Given the description of an element on the screen output the (x, y) to click on. 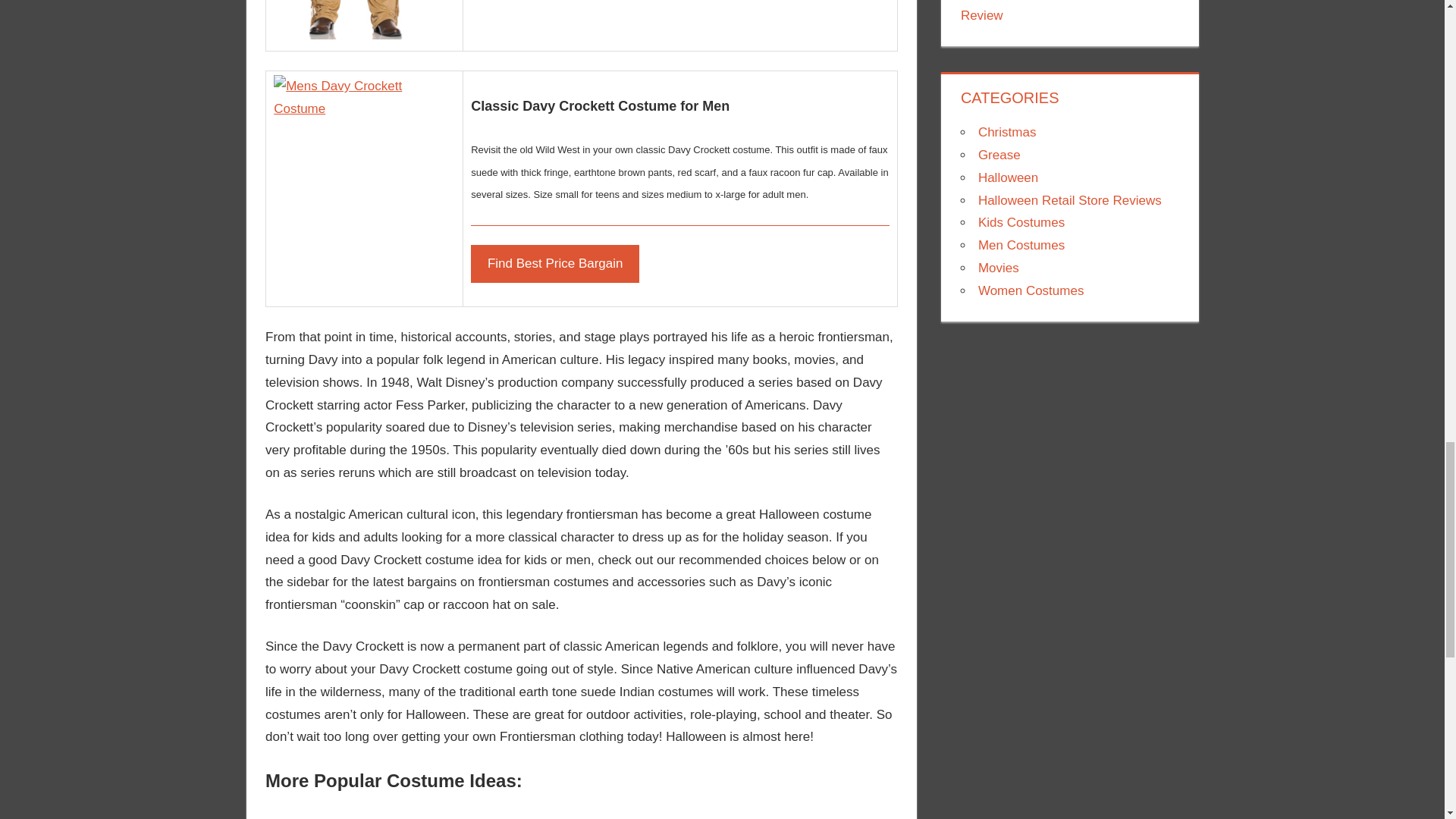
Kid Elf Costume Ideas (414, 812)
1920s Flapper Costume Ideas for Women (514, 812)
Christmas Tree Costume Ideas (314, 812)
 Find Best Price Bargain  (554, 263)
 Find Best Price Bargain  (554, 263)
Lily Munster Costumes for Sale (613, 812)
Gene Simmons Kiss Halloween Costumes for Sale (811, 812)
Grey Alien Halloween Mask Ideas (712, 812)
